Given the description of an element on the screen output the (x, y) to click on. 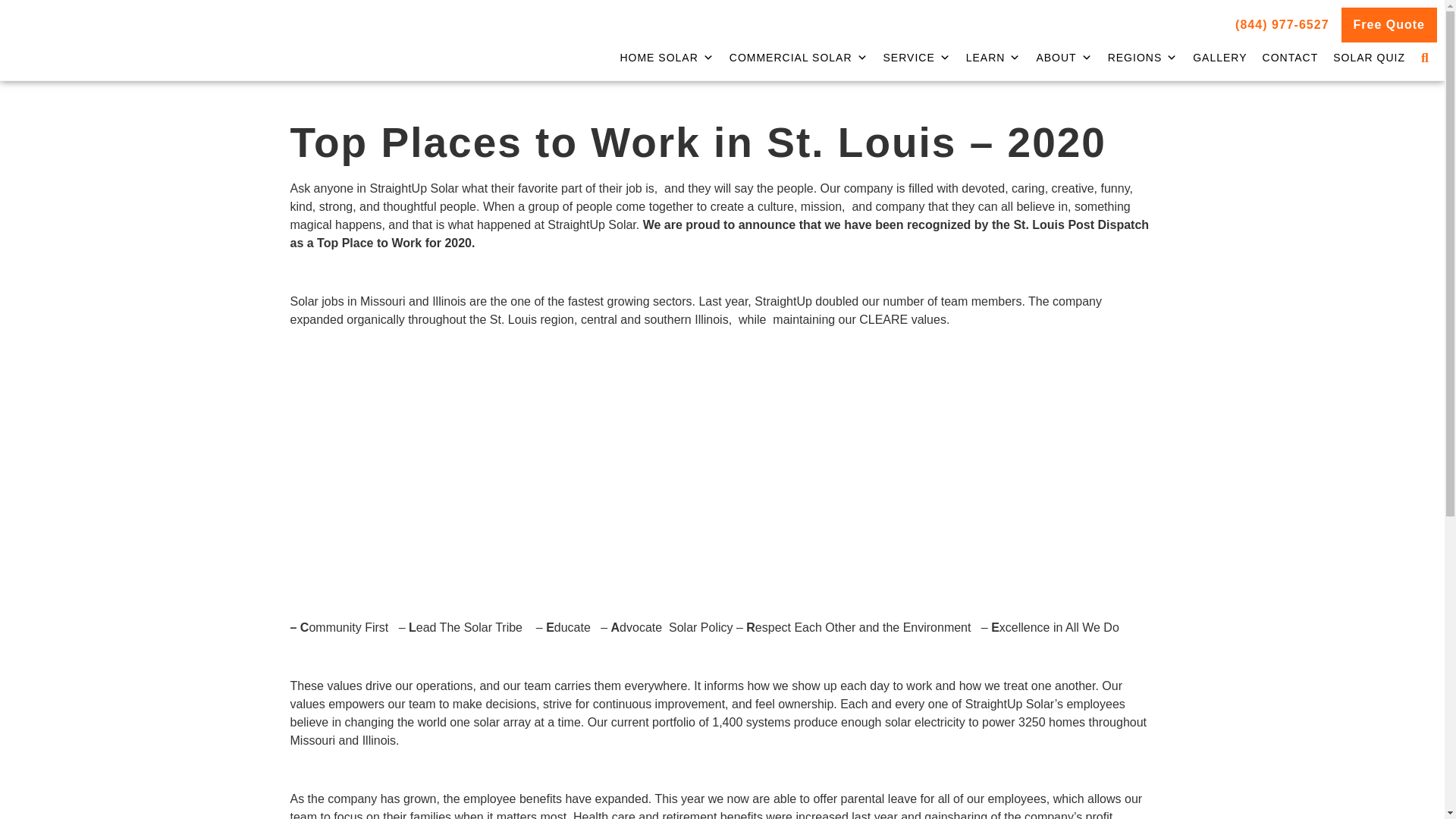
COMMERCIAL SOLAR (799, 57)
HOME SOLAR (665, 57)
Free Quote (1388, 24)
